Given the description of an element on the screen output the (x, y) to click on. 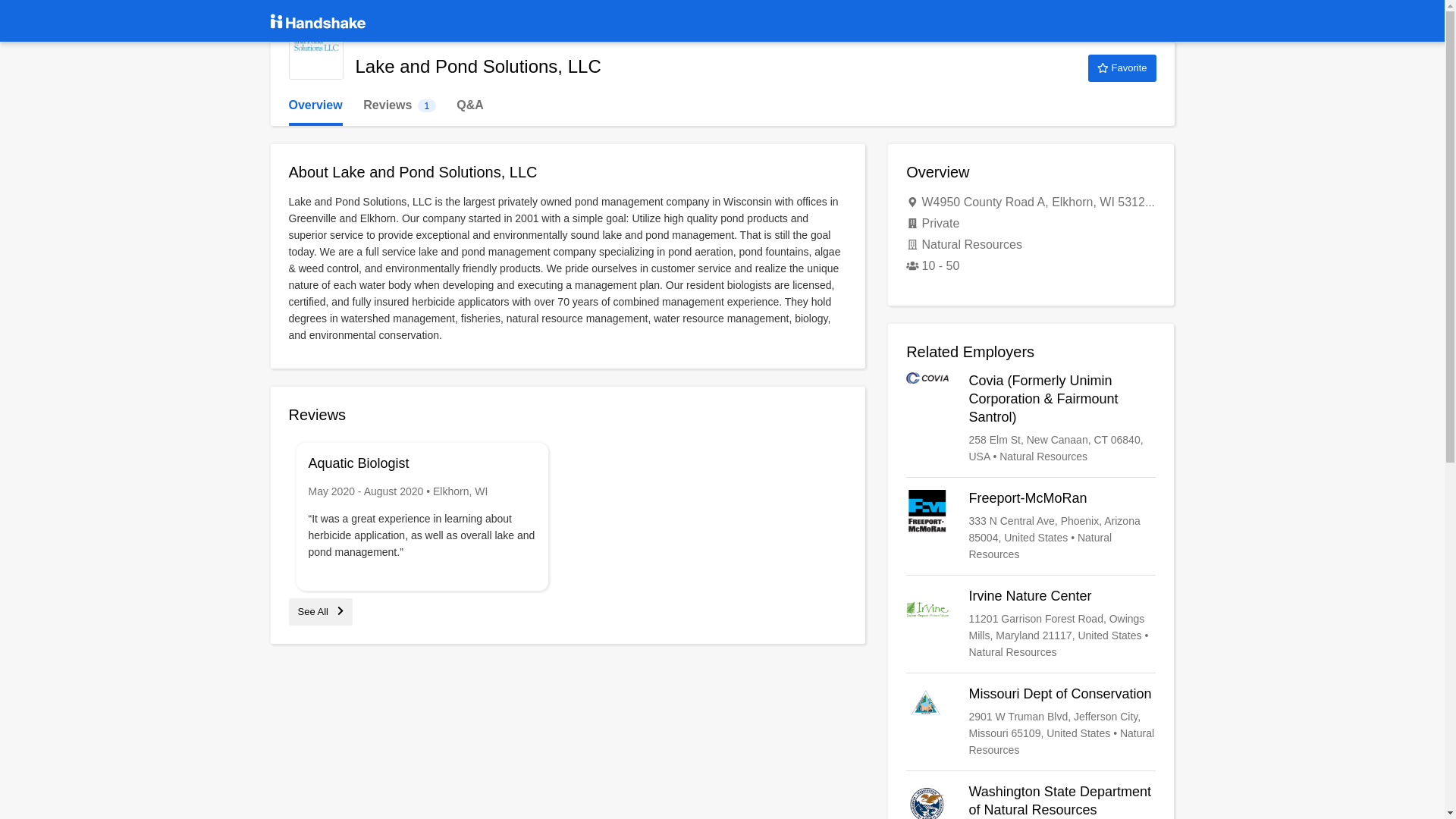
Irvine Nature Center (1030, 624)
Favorite (1121, 67)
Lake and Pond Solutions, LLC (315, 52)
Overview (315, 105)
Washington State Department of Natural Resources (1030, 800)
Freeport-McMoRan (1030, 525)
Missouri Dept of Conservation (1030, 721)
See All (398, 105)
